Given the description of an element on the screen output the (x, y) to click on. 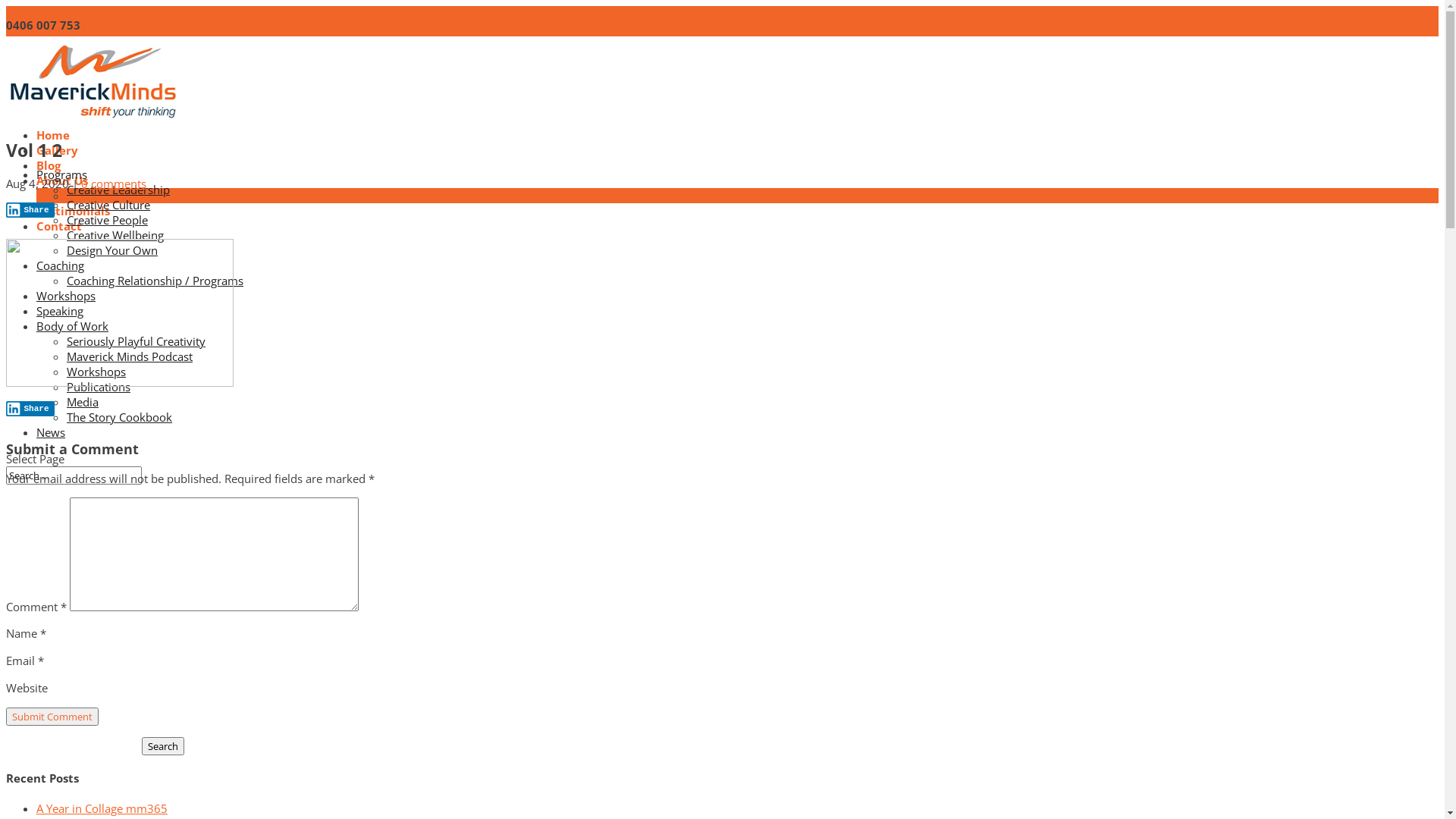
Submit Comment Element type: text (52, 716)
Programs Element type: text (61, 190)
Creative Leadership Element type: text (117, 189)
About Us Element type: text (61, 180)
Twitter Element type: text (57, 66)
Creative Culture Element type: text (108, 204)
Search for: Element type: hover (73, 475)
Share Element type: text (30, 209)
0 comments Element type: text (113, 183)
Media Element type: text (82, 401)
Publications Element type: text (98, 386)
What We Do Element type: text (101, 195)
Blog Element type: text (48, 164)
Creative People Element type: text (106, 219)
The Story Cookbook Element type: text (119, 416)
Home Element type: text (52, 134)
News Element type: text (50, 448)
info@maverickminds.com.au Element type: text (166, 24)
Search Element type: text (162, 746)
Workshops Element type: text (95, 371)
Gallery Element type: text (57, 149)
Testimonials Element type: text (72, 210)
Contact Element type: text (58, 225)
Share Element type: text (30, 408)
Design Your Own Element type: text (111, 249)
Workshops Element type: text (65, 311)
Maverick Minds Podcast Element type: text (129, 356)
Speaking Element type: text (59, 327)
Facebook Element type: text (63, 51)
A Year in Collage mm365 Element type: text (101, 807)
Creative Wellbeing Element type: text (114, 234)
Seriously Playful Creativity Element type: text (135, 340)
Facebook Element type: text (63, 92)
Body of Work Element type: text (72, 342)
Coaching Relationship / Programs Element type: text (154, 280)
Twitter Element type: text (57, 108)
Coaching Element type: text (60, 281)
